Given the description of an element on the screen output the (x, y) to click on. 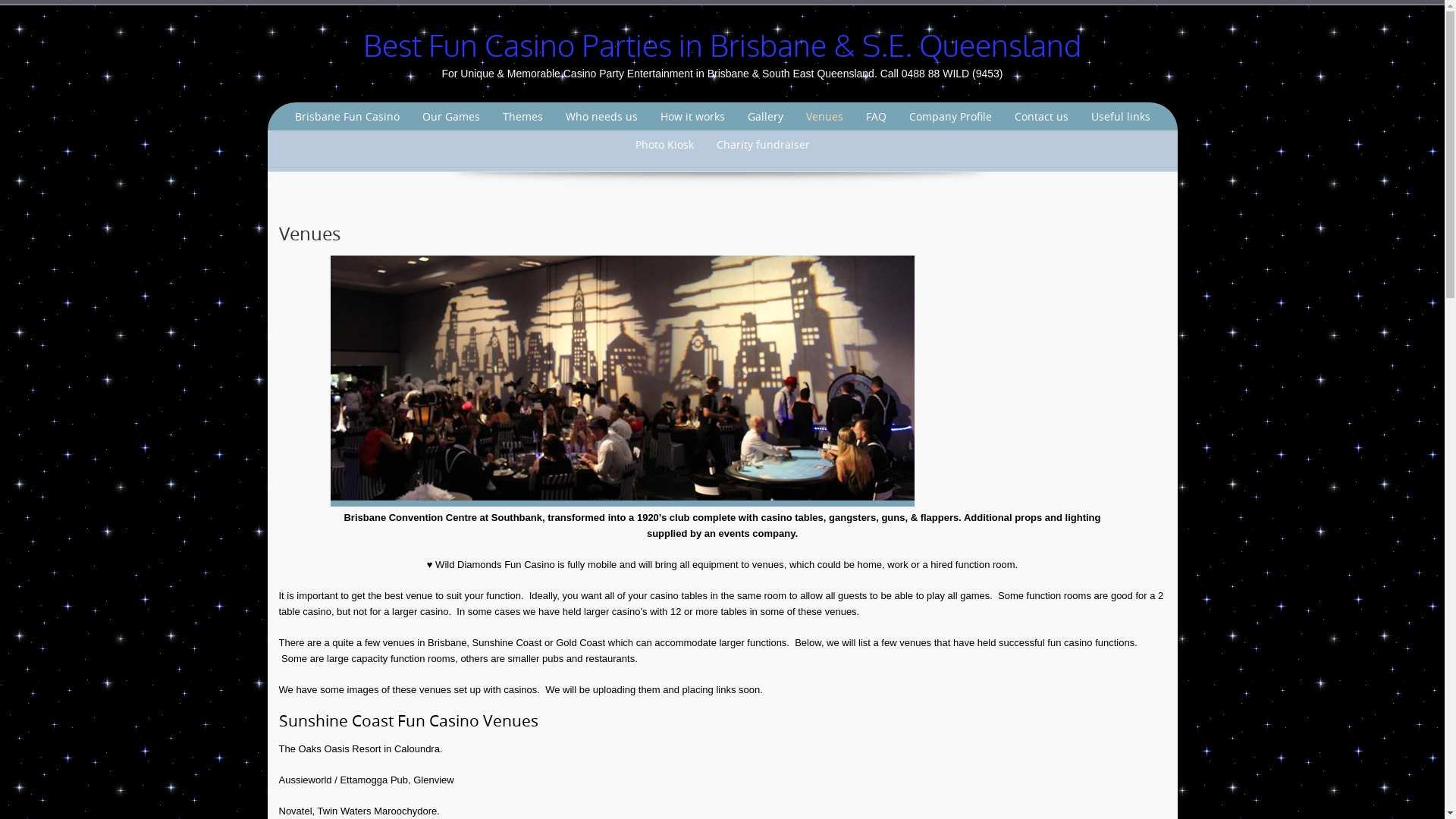
FAQ Element type: text (875, 116)
Our Games Element type: text (450, 116)
Company Profile Element type: text (950, 116)
Charity fundraiser Element type: text (762, 144)
Venues Element type: text (824, 116)
Themes Element type: text (522, 116)
Gallery Element type: text (764, 116)
Photo Kiosk Element type: text (663, 144)
Best Fun Casino Parties in Brisbane & S.E. Queensland Element type: text (722, 47)
Who needs us Element type: text (600, 116)
How it works Element type: text (692, 116)
Contact us Element type: text (1040, 116)
Useful links Element type: text (1120, 116)
Brisbane Fun Casino Element type: text (347, 116)
